Given the description of an element on the screen output the (x, y) to click on. 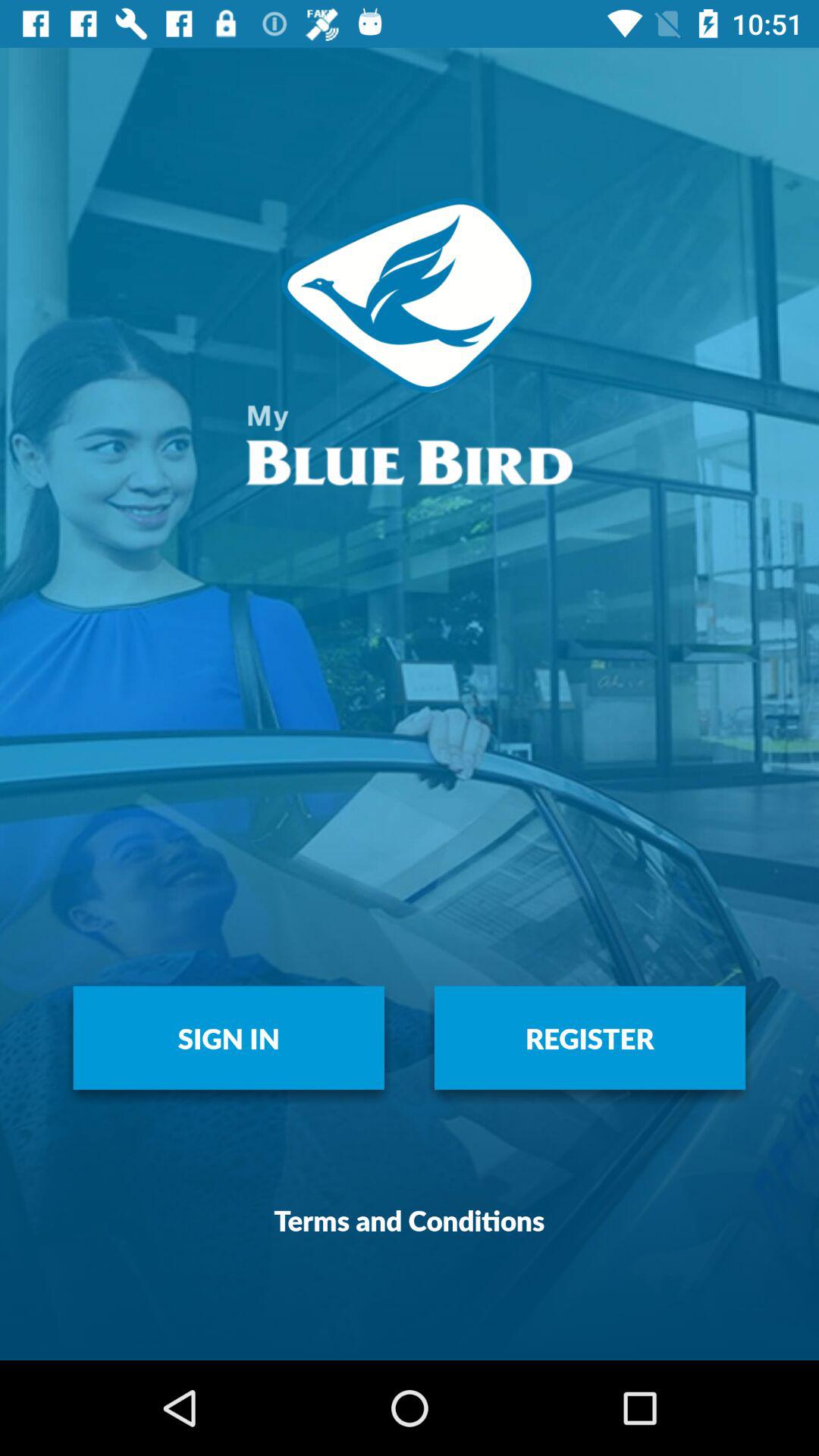
turn off item above the terms and conditions item (589, 1037)
